Given the description of an element on the screen output the (x, y) to click on. 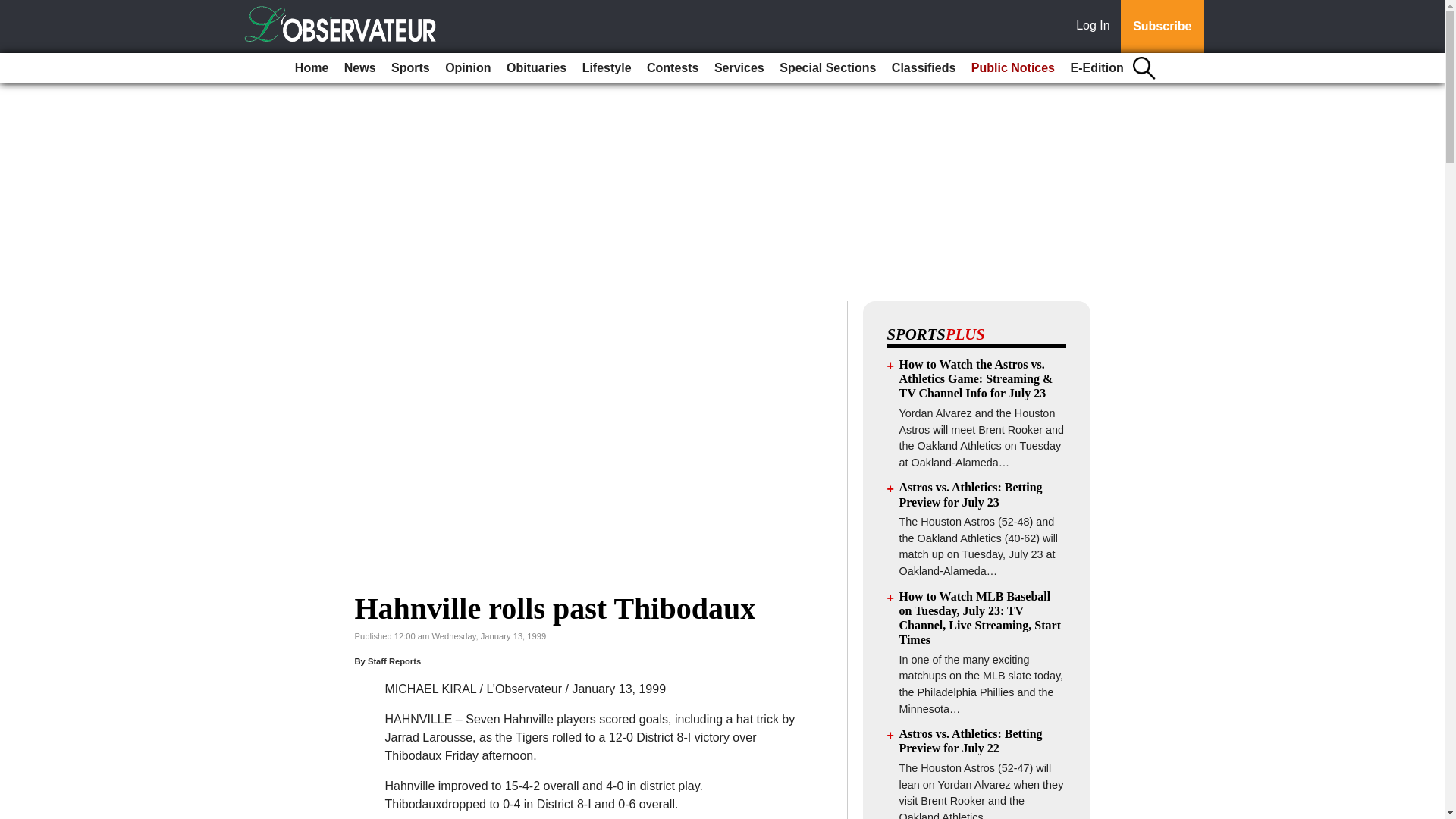
Log In (1095, 26)
News (359, 68)
Astros vs. Athletics: Betting Preview for July 22 (970, 740)
Public Notices (1013, 68)
Lifestyle (606, 68)
Opinion (467, 68)
E-Edition (1096, 68)
Obituaries (536, 68)
Services (738, 68)
Subscribe (1162, 26)
Contests (672, 68)
Special Sections (827, 68)
Go (13, 9)
Classifieds (922, 68)
